Given the description of an element on the screen output the (x, y) to click on. 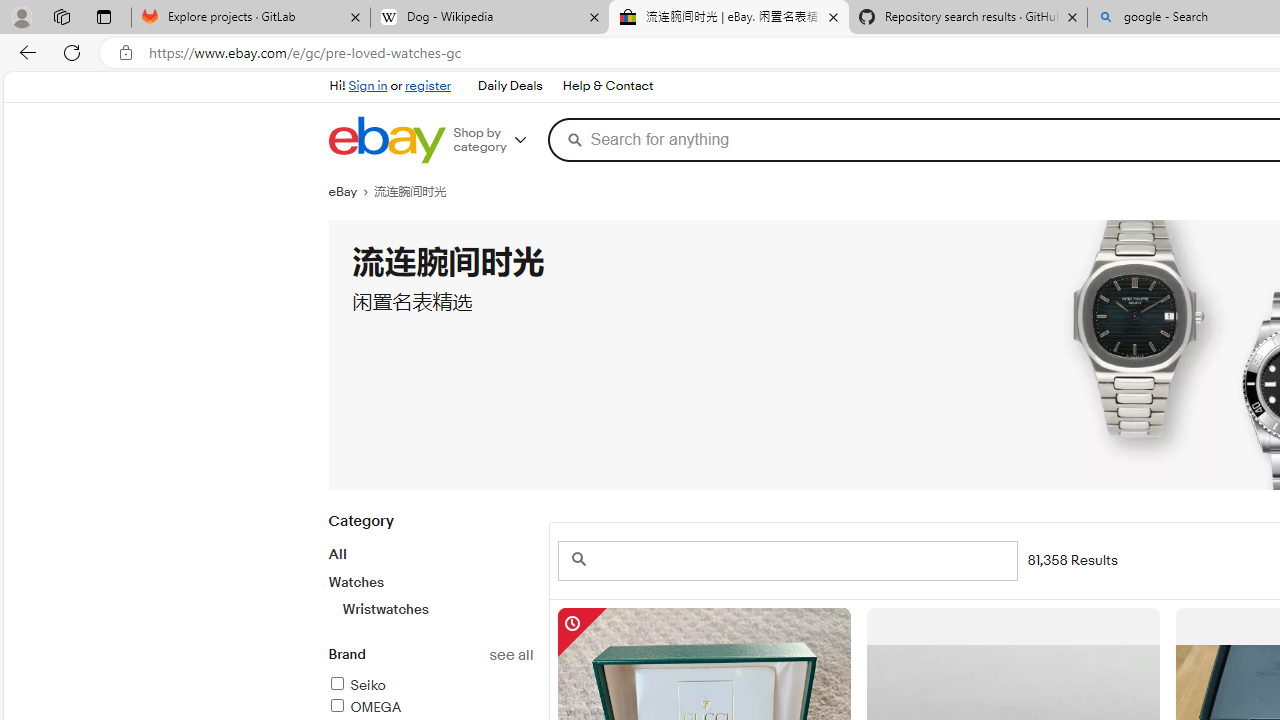
Daily Deals (509, 85)
Enter your search keyword (786, 560)
Seiko (356, 685)
OMEGA (363, 707)
Dog - Wikipedia (490, 17)
AllWatchesWristwatches (430, 581)
Shop by category (496, 140)
See all brand refinements (510, 655)
Help & Contact (607, 86)
eBay Home (386, 139)
Help & Contact (606, 85)
eBay (351, 191)
All (336, 554)
